Given the description of an element on the screen output the (x, y) to click on. 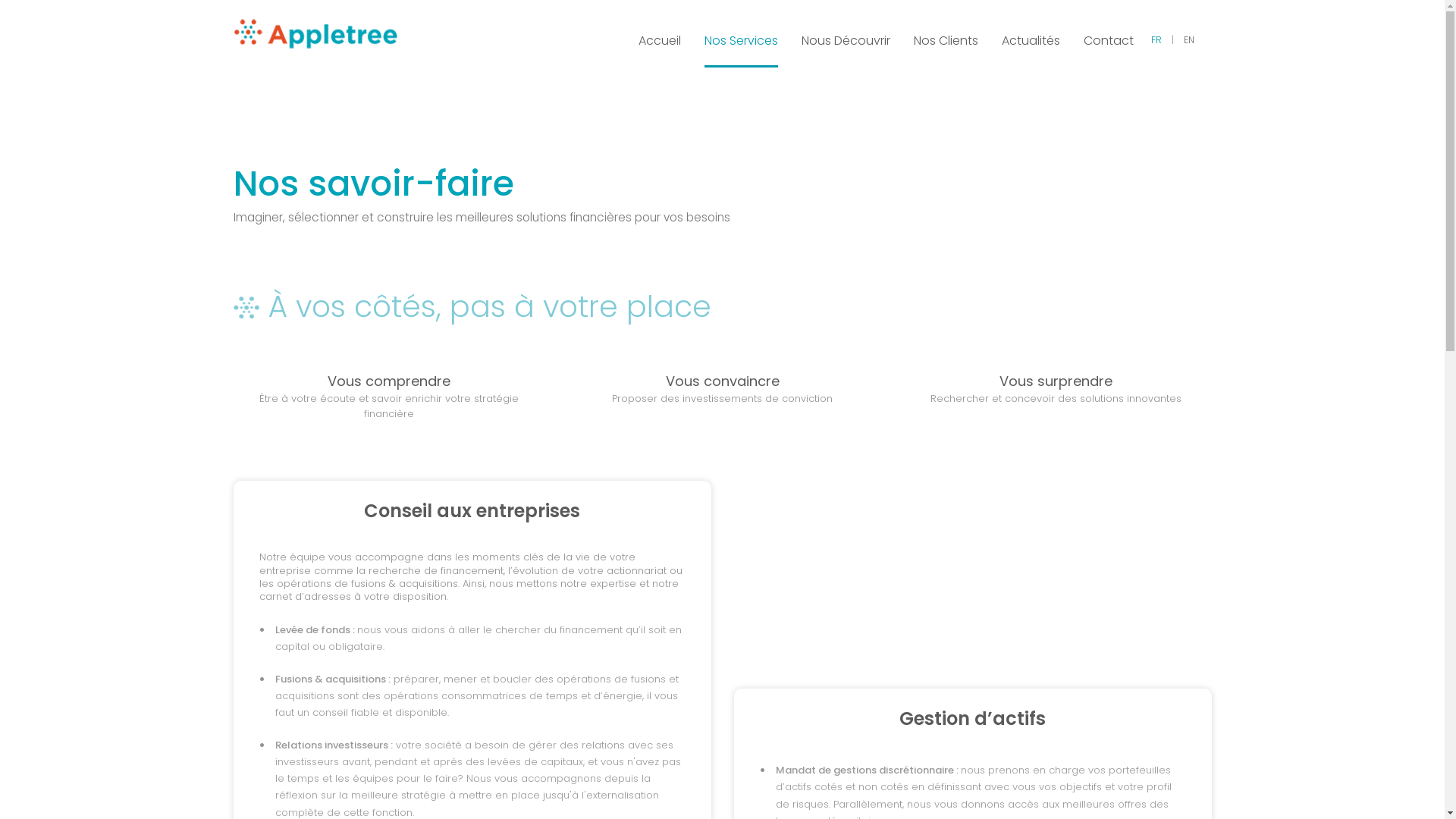
Accueil Element type: text (659, 33)
Nos Services Element type: text (740, 33)
FR Element type: text (1155, 39)
EN Element type: text (1188, 39)
Nos Clients Element type: text (945, 33)
Contact Element type: text (1107, 33)
